Given the description of an element on the screen output the (x, y) to click on. 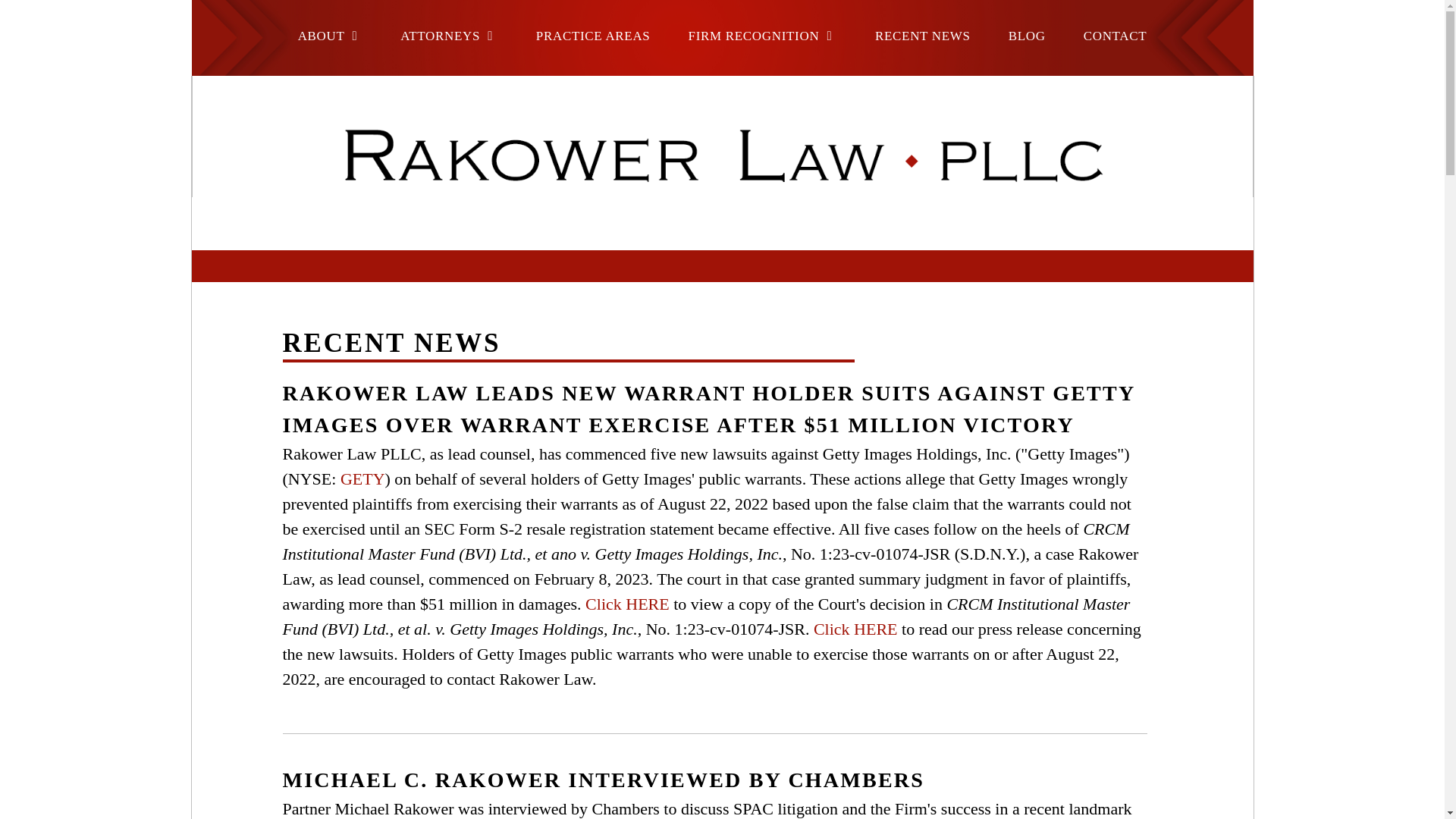
ABOUT (330, 36)
Click HERE (627, 603)
Click HERE (855, 628)
GETY (362, 478)
ATTORNEYS (448, 36)
BLOG (1027, 36)
PRACTICE AREAS (592, 36)
FIRM RECOGNITION (762, 36)
CONTACT (1115, 36)
MICHAEL C. RAKOWER INTERVIEWED BY CHAMBERS (603, 779)
